Given the description of an element on the screen output the (x, y) to click on. 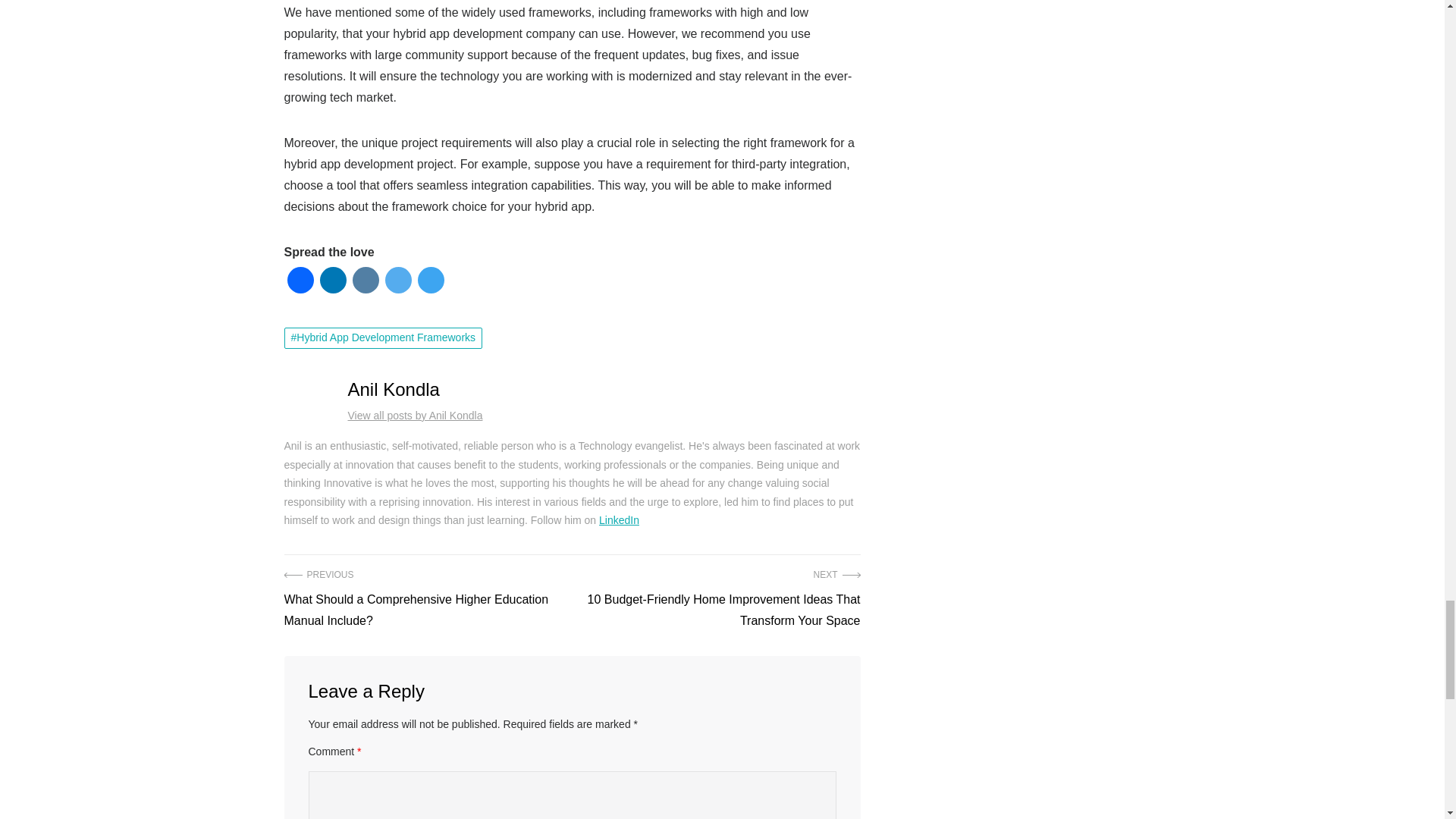
Hybrid App Development Frameworks (382, 337)
View all posts by Anil Kondla (414, 415)
LinkedIn (618, 520)
